Given the description of an element on the screen output the (x, y) to click on. 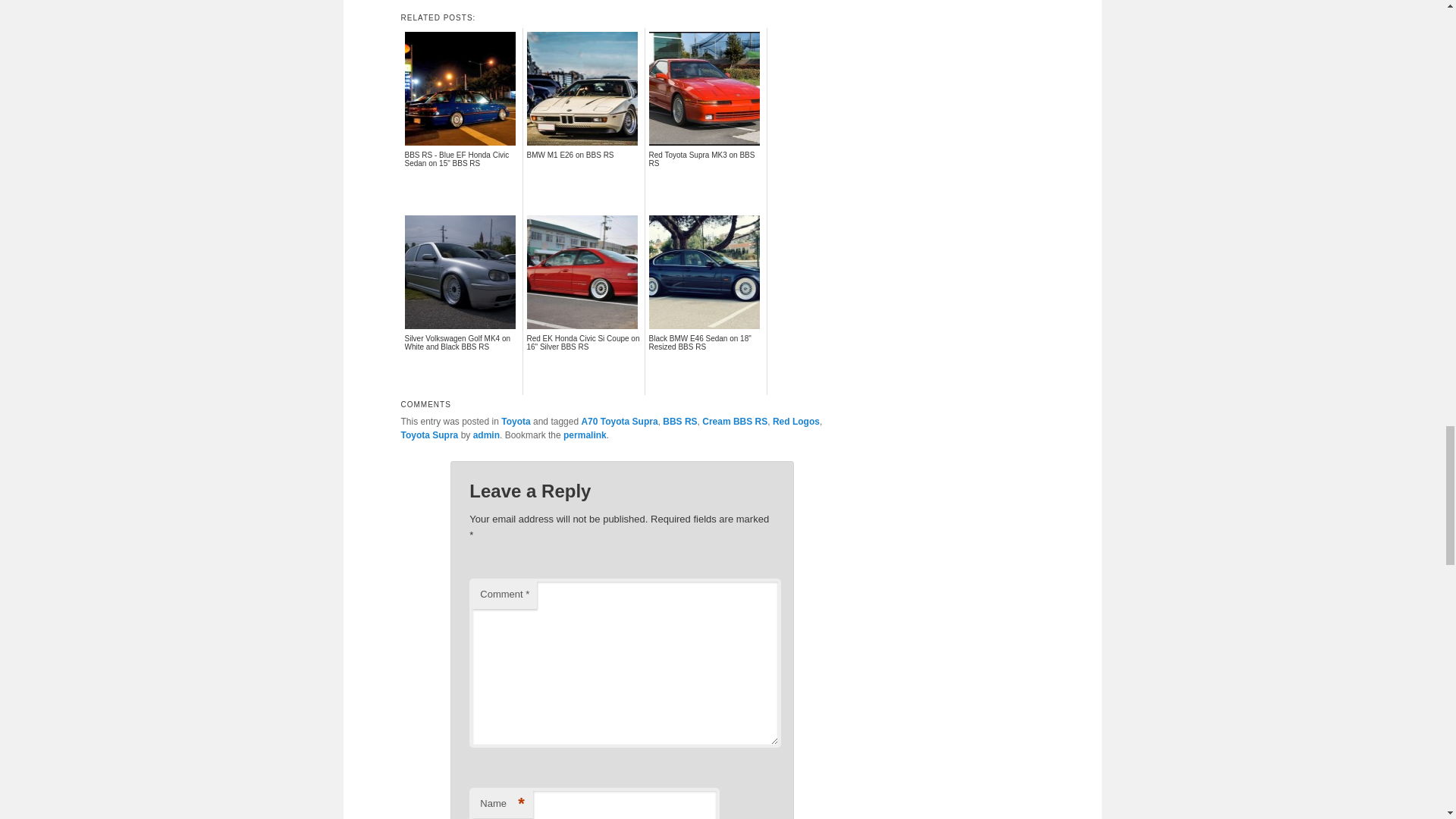
Red EK Honda Civic Si Coupe on 16" Silver BBS RS (582, 362)
Red Toyota Supra MK3 on BBS RS (705, 179)
BBS RS (679, 421)
BBS RS - Blue EF Honda Civic Sedan on 15" BBS RS (461, 179)
admin (486, 434)
Cream BBS RS (734, 421)
A70 Toyota Supra (619, 421)
Black BMW E46 Sedan on 18" Resized BBS RS (705, 362)
Red Logos (796, 421)
Toyota Supra (429, 434)
Permalink to Cream Colored Toyota Supra A70 on Creamy BBS RS (585, 434)
Toyota (514, 421)
BMW M1 E26 on BBS RS (582, 179)
permalink (585, 434)
Silver Volkswagen Golf MK4 on White and Black BBS RS (461, 362)
